Given the description of an element on the screen output the (x, y) to click on. 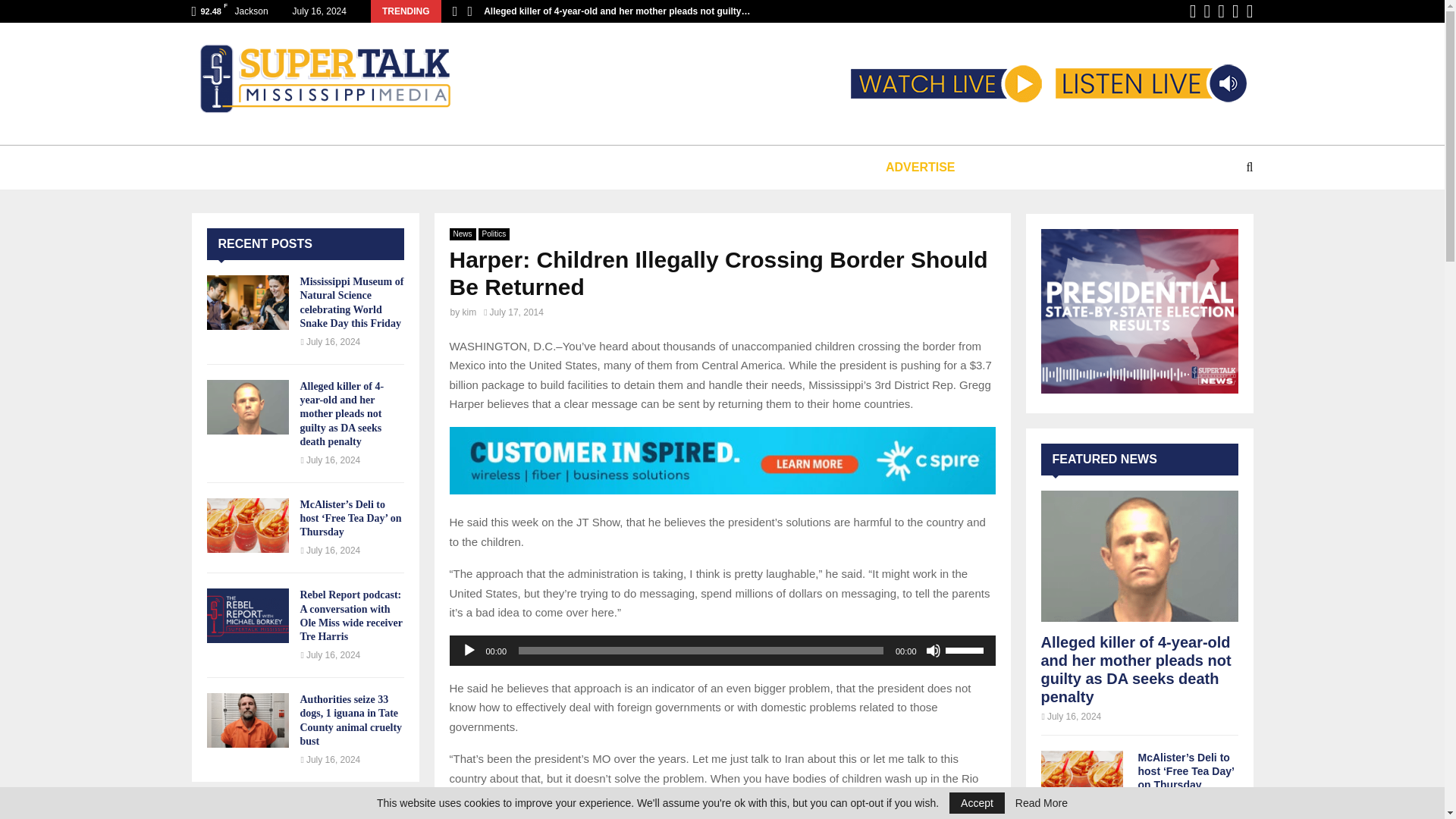
STATIONS (345, 167)
Play (468, 650)
Mute (932, 650)
TUNE IN (255, 167)
